Given the description of an element on the screen output the (x, y) to click on. 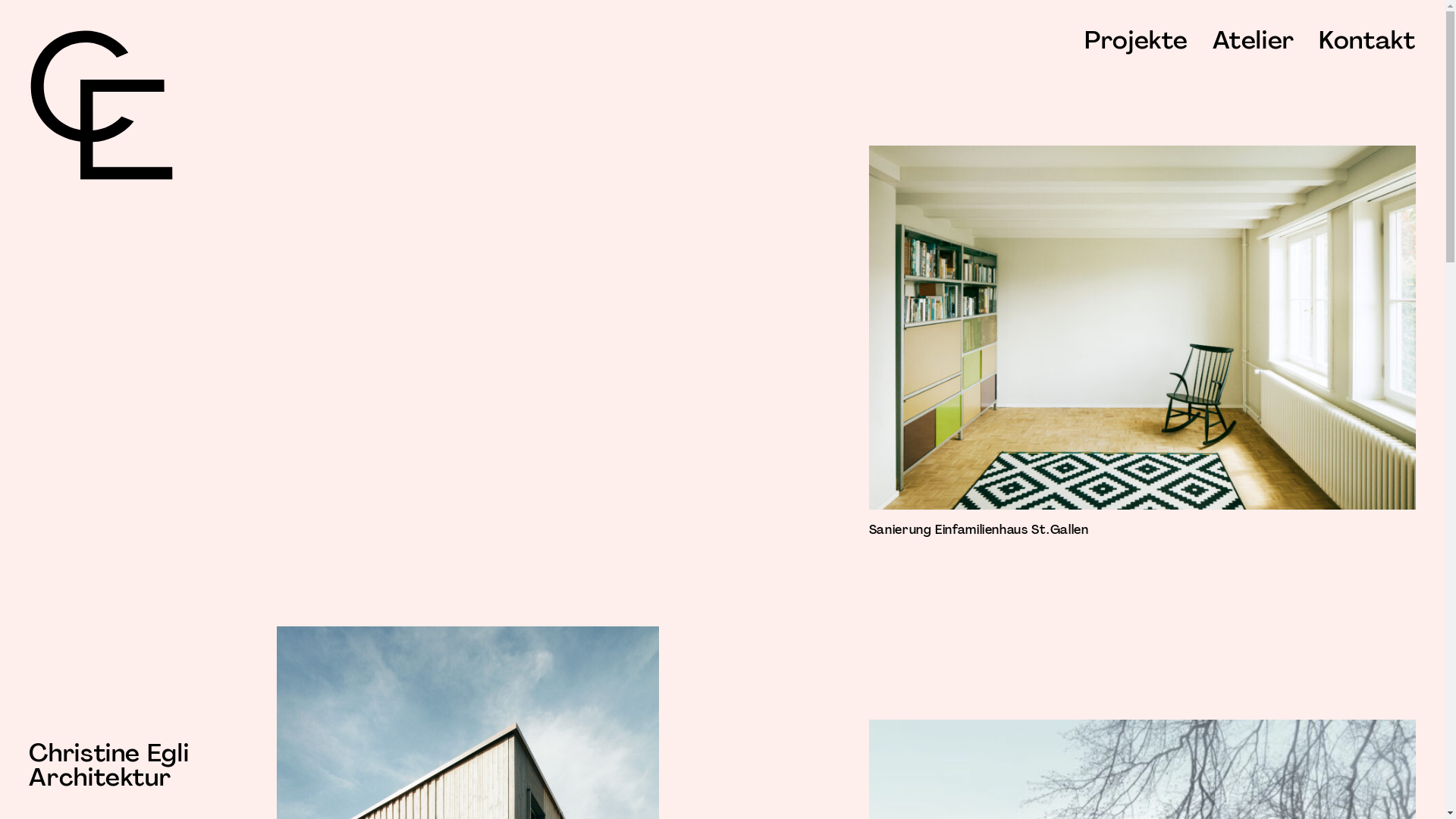
Christine Egli
Architektur Element type: text (108, 764)
Projekte Element type: text (1136, 39)
Atelier Element type: text (1252, 39)
Kontakt Element type: text (1366, 39)
